Given the description of an element on the screen output the (x, y) to click on. 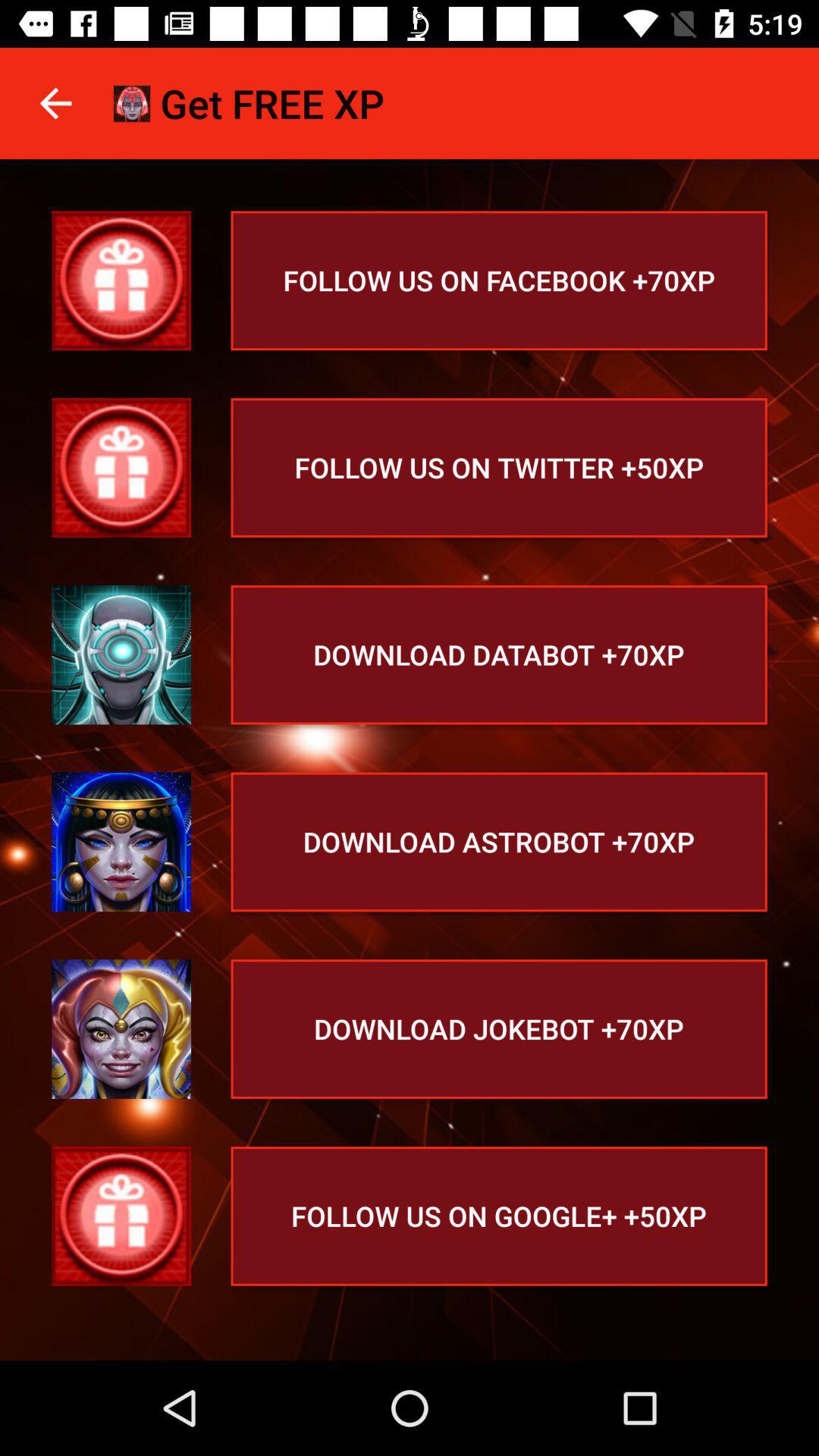
follow us button (121, 1215)
